Given the description of an element on the screen output the (x, y) to click on. 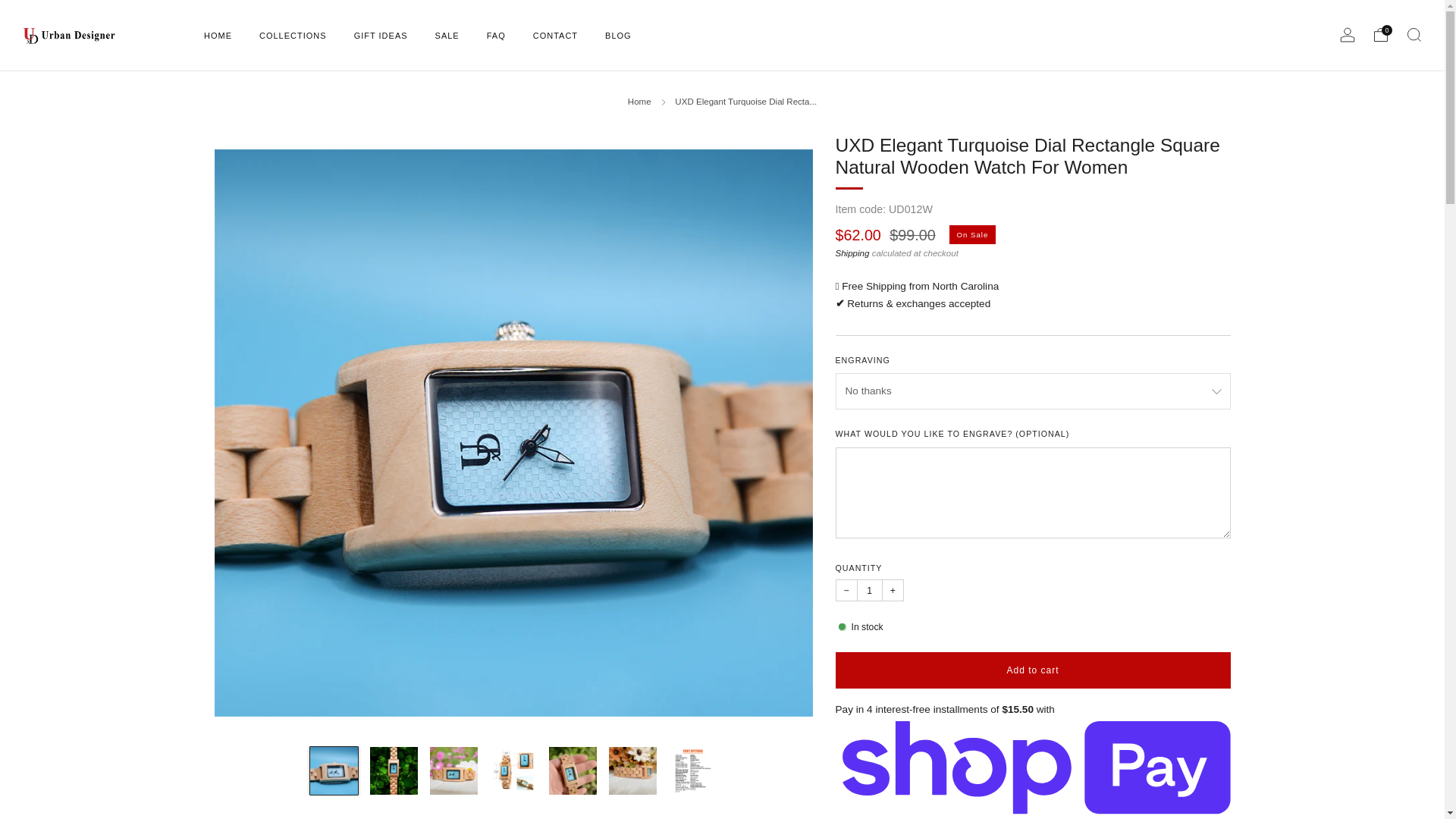
Home (638, 101)
0 (1381, 34)
Item code: UD012W (884, 209)
SALE (447, 34)
GIFT IDEAS (380, 34)
COLLECTIONS (292, 34)
HOME (217, 34)
BLOG (618, 34)
CONTACT (555, 34)
1 (869, 589)
